Given the description of an element on the screen output the (x, y) to click on. 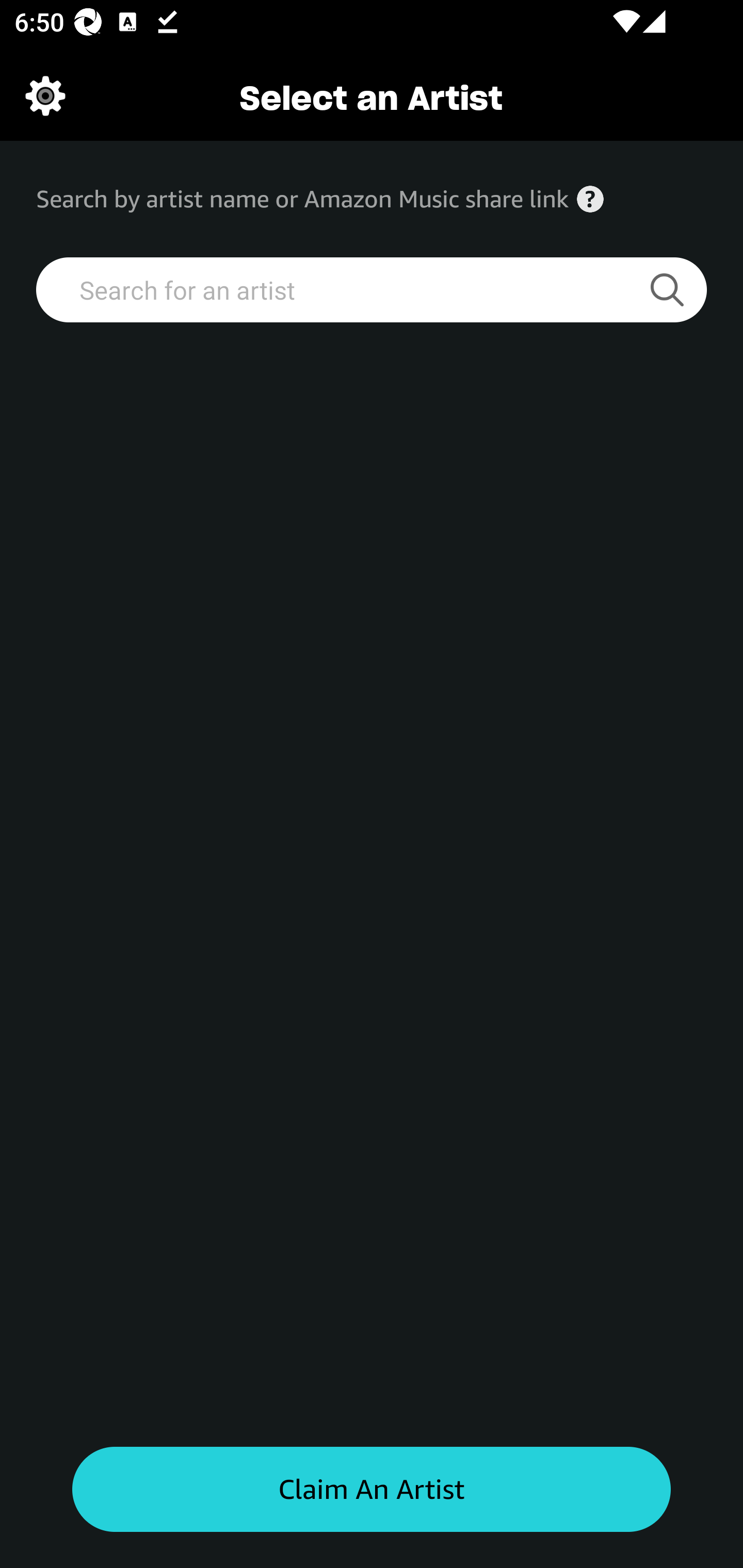
Help  icon (589, 199)
Claim an artist button Claim An Artist (371, 1489)
